Given the description of an element on the screen output the (x, y) to click on. 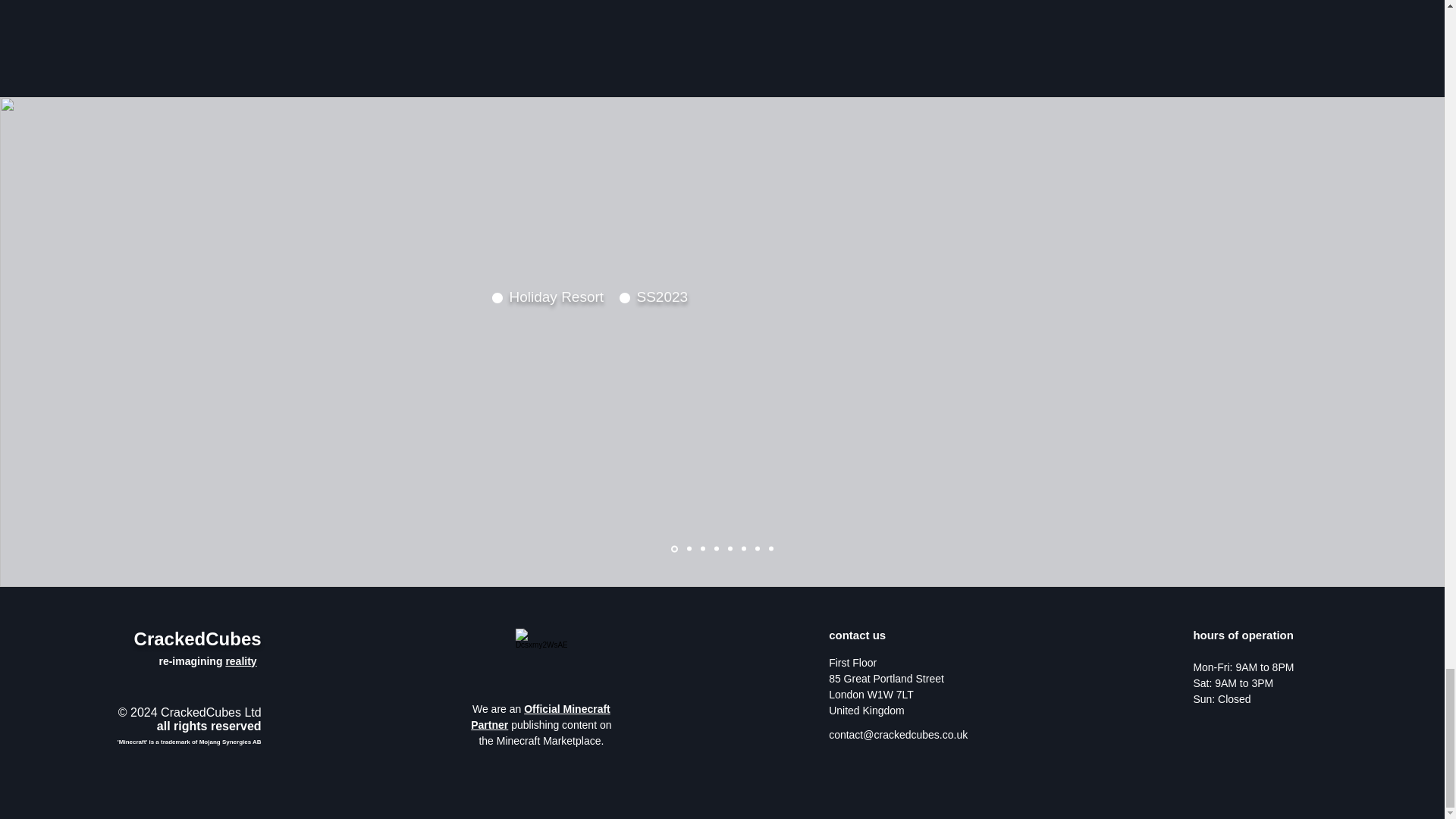
Official Minecraft Partner (540, 716)
